Given the description of an element on the screen output the (x, y) to click on. 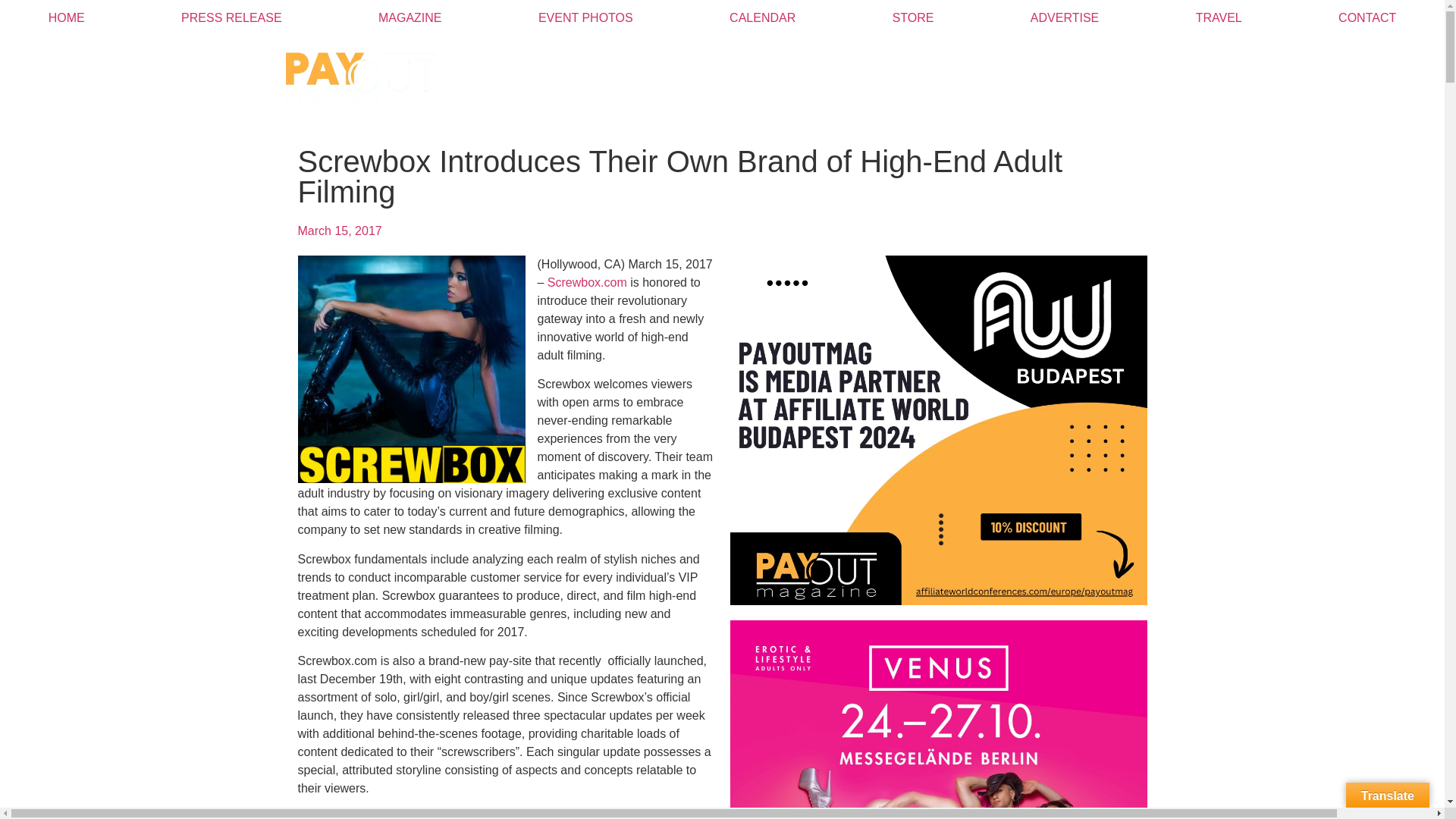
PRESS RELEASE (231, 18)
March 15, 2017 (339, 230)
CALENDAR (762, 18)
Screwbox.com (587, 282)
EVENT PHOTOS (585, 18)
MAGAZINE (409, 18)
CONTACT (1367, 18)
TRAVEL (1218, 18)
STORE (912, 18)
ADVERTISE (1064, 18)
HOME (66, 18)
